Given the description of an element on the screen output the (x, y) to click on. 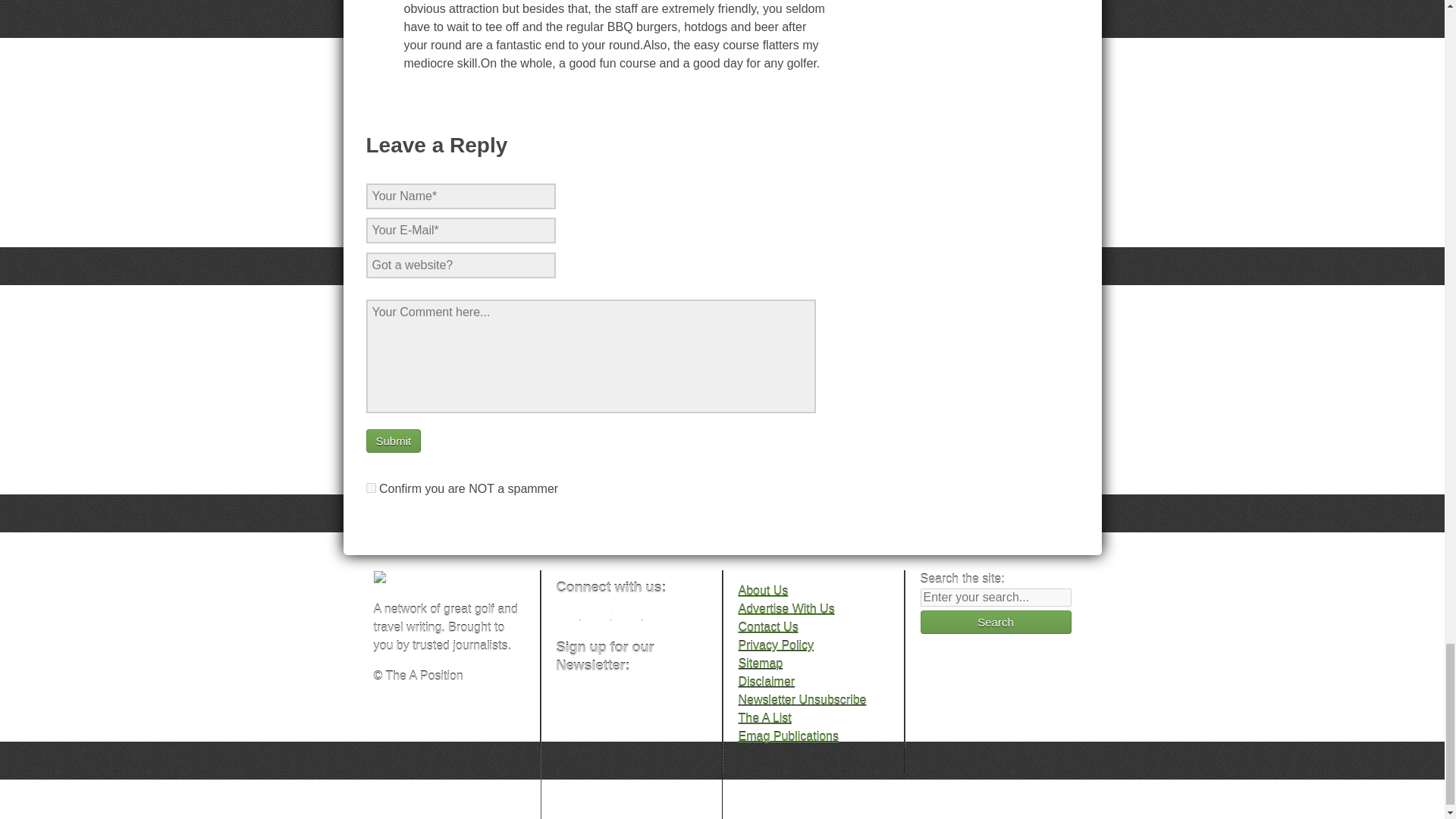
on (370, 488)
Submit (392, 440)
Search (995, 621)
